Given the description of an element on the screen output the (x, y) to click on. 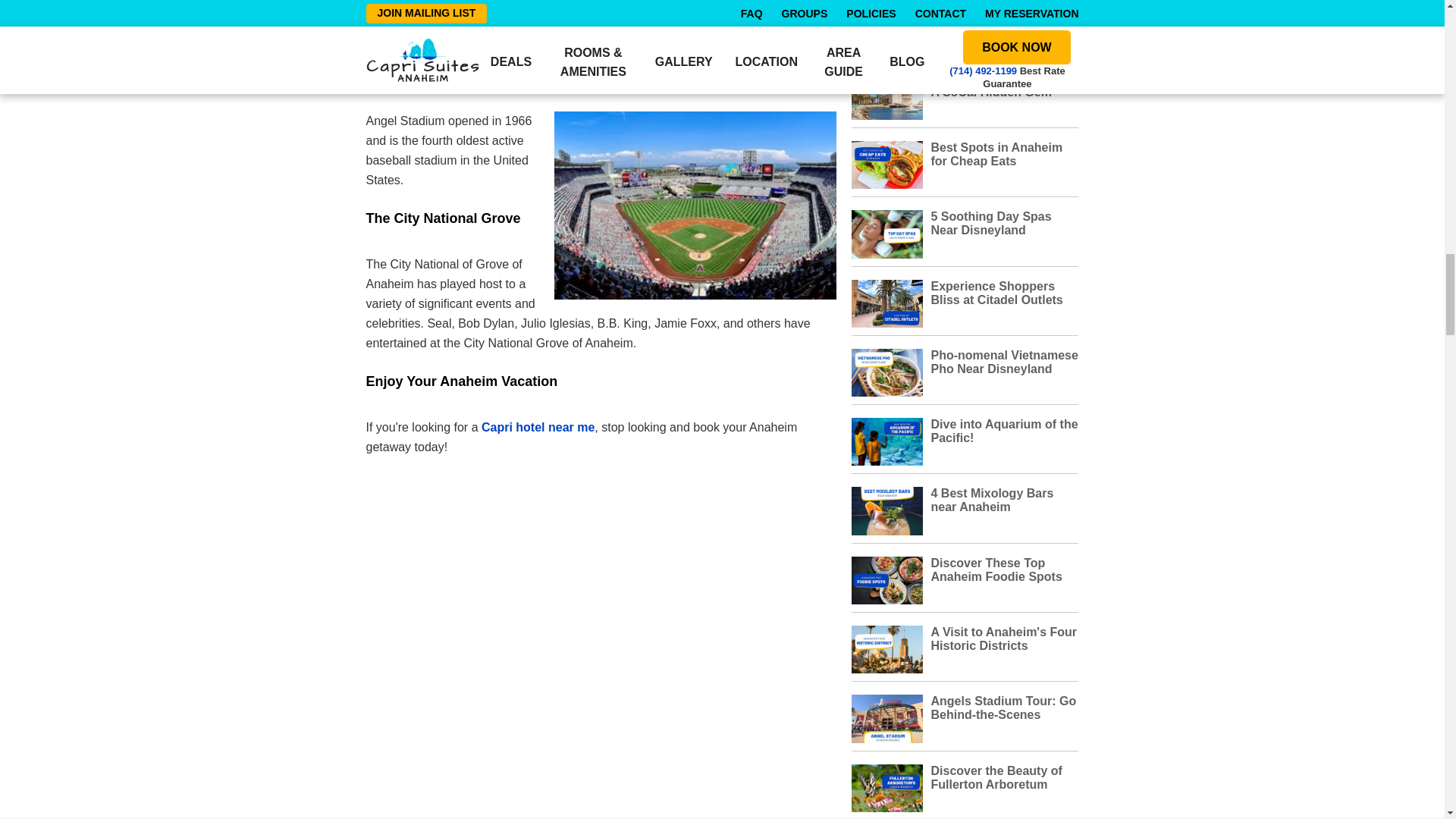
Capri hotel near me (537, 427)
